Given the description of an element on the screen output the (x, y) to click on. 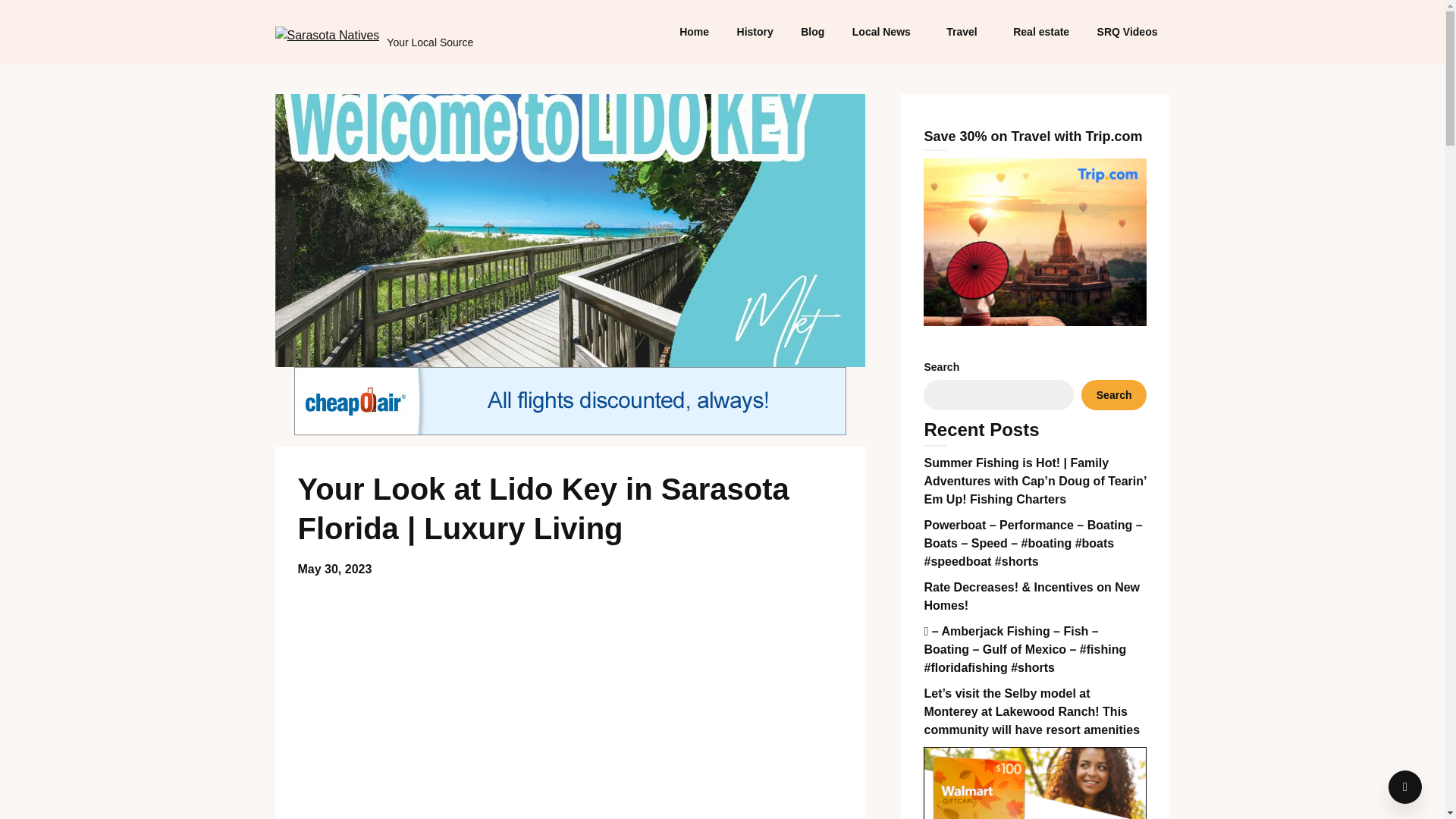
Home (693, 31)
YouTube video player (570, 702)
History (755, 31)
Blog (812, 31)
Travel (961, 31)
Local News (881, 31)
SRQ Videos (1127, 31)
May 30, 2023 (334, 568)
To Top (1405, 786)
Real estate (1041, 31)
